Given the description of an element on the screen output the (x, y) to click on. 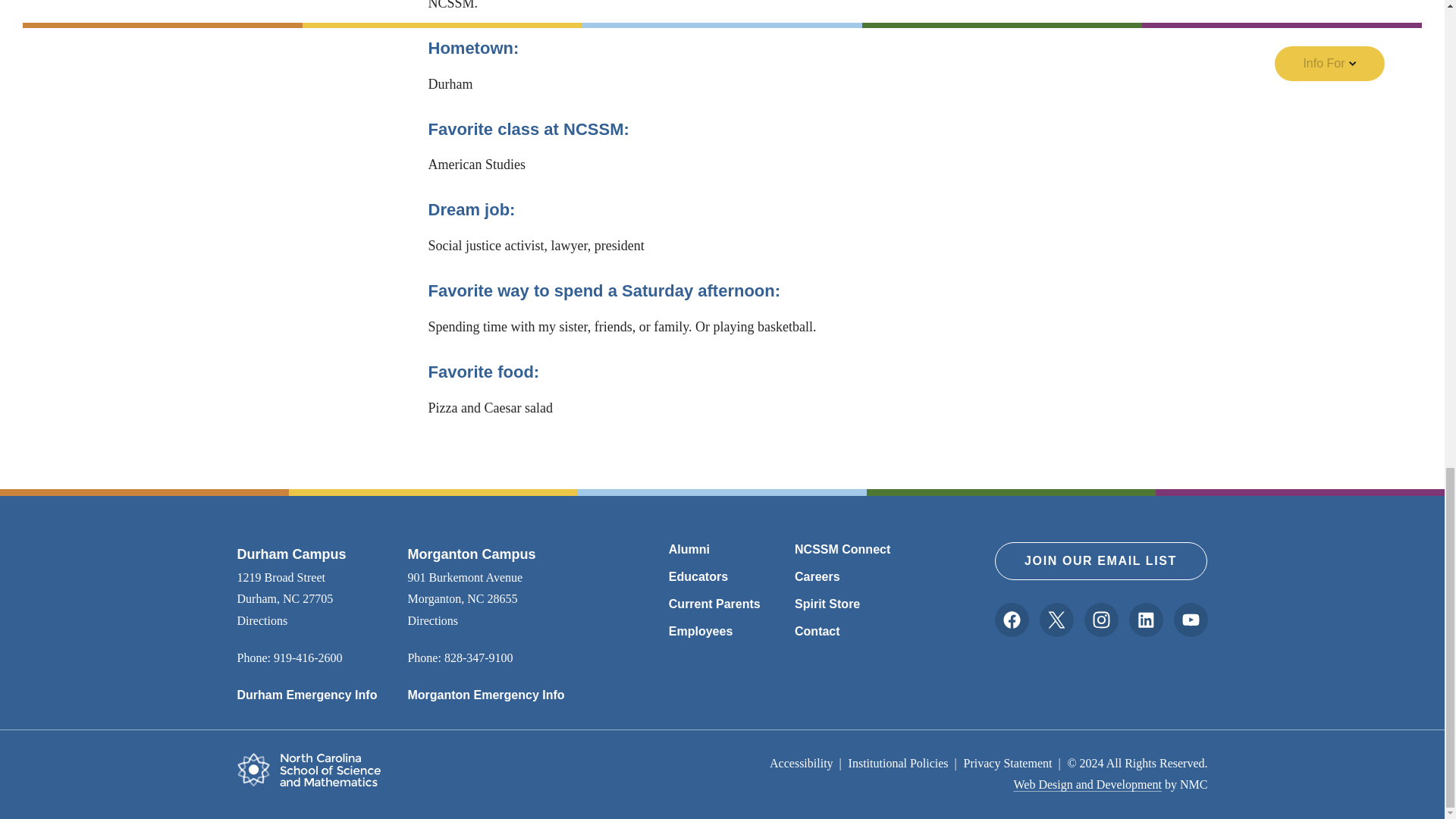
youtube (1190, 619)
facebook (1011, 619)
instagram (1100, 619)
